Given the description of an element on the screen output the (x, y) to click on. 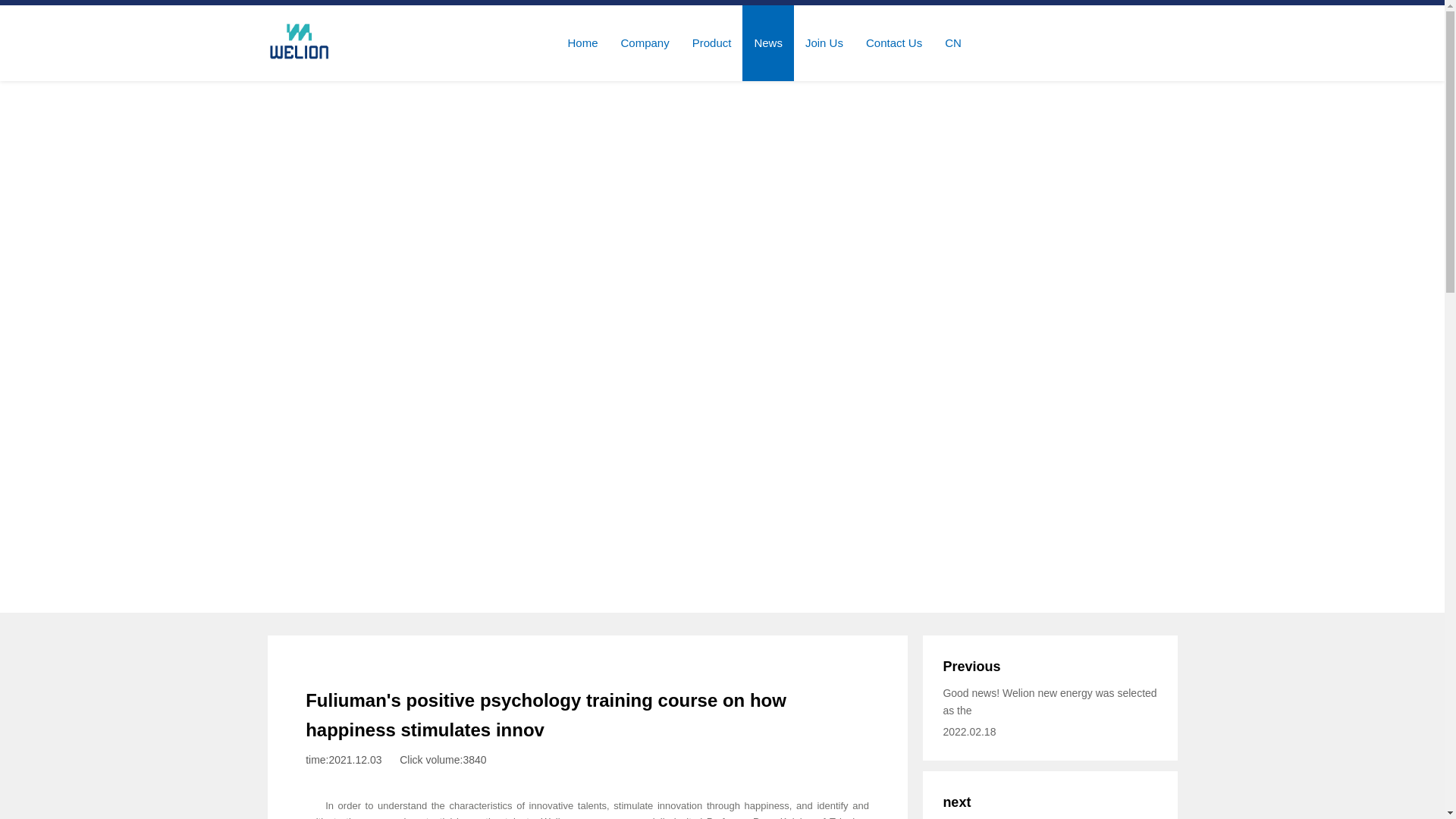
Company (645, 42)
Contact Us (893, 42)
